Given the description of an element on the screen output the (x, y) to click on. 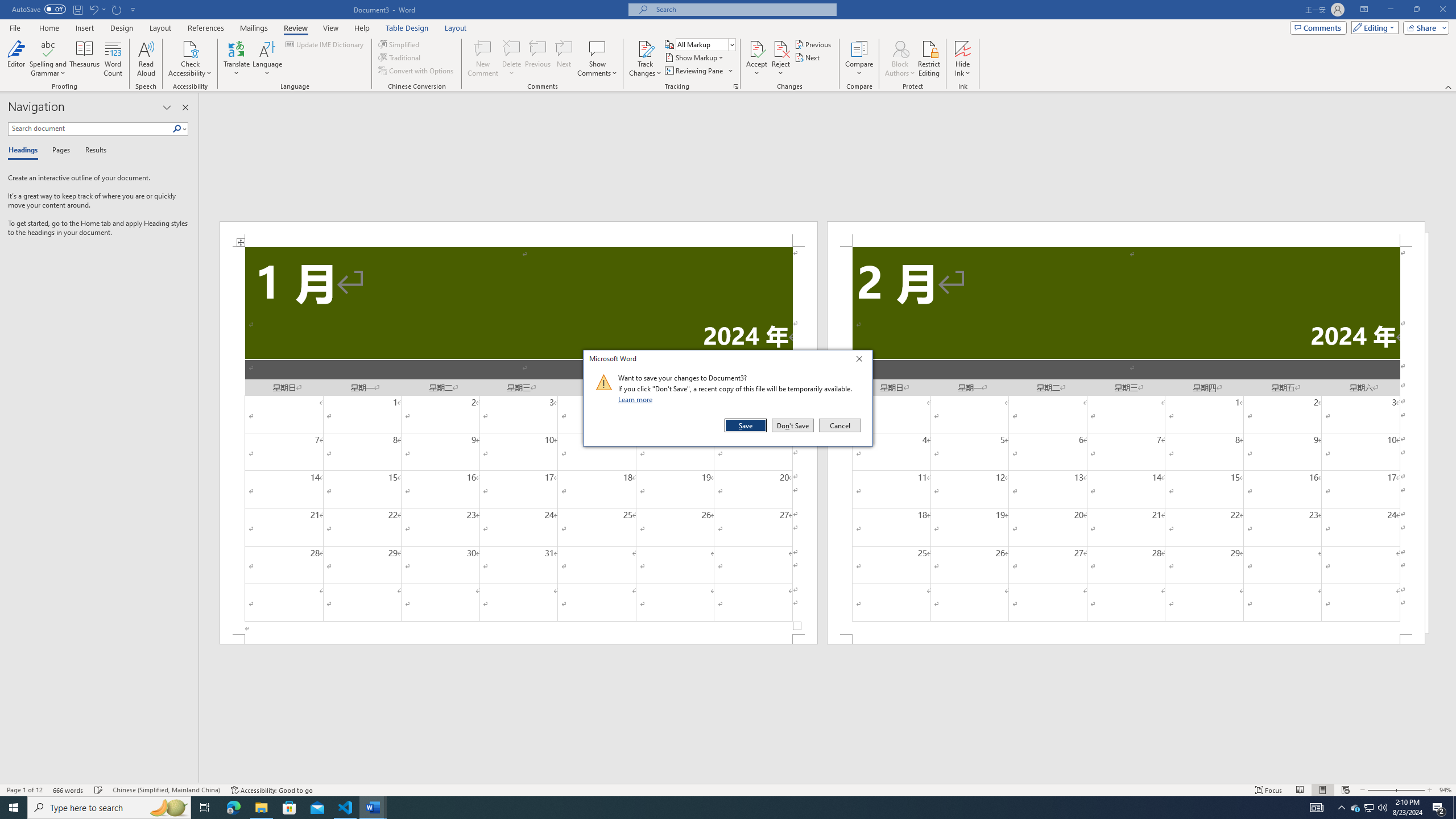
Read Aloud (145, 58)
Check Accessibility (189, 48)
Don't Save (792, 425)
Search highlights icon opens search home window (167, 807)
Q2790: 100% (1382, 807)
Simplified (400, 44)
Page Number Page 1 of 12 (24, 790)
